Given the description of an element on the screen output the (x, y) to click on. 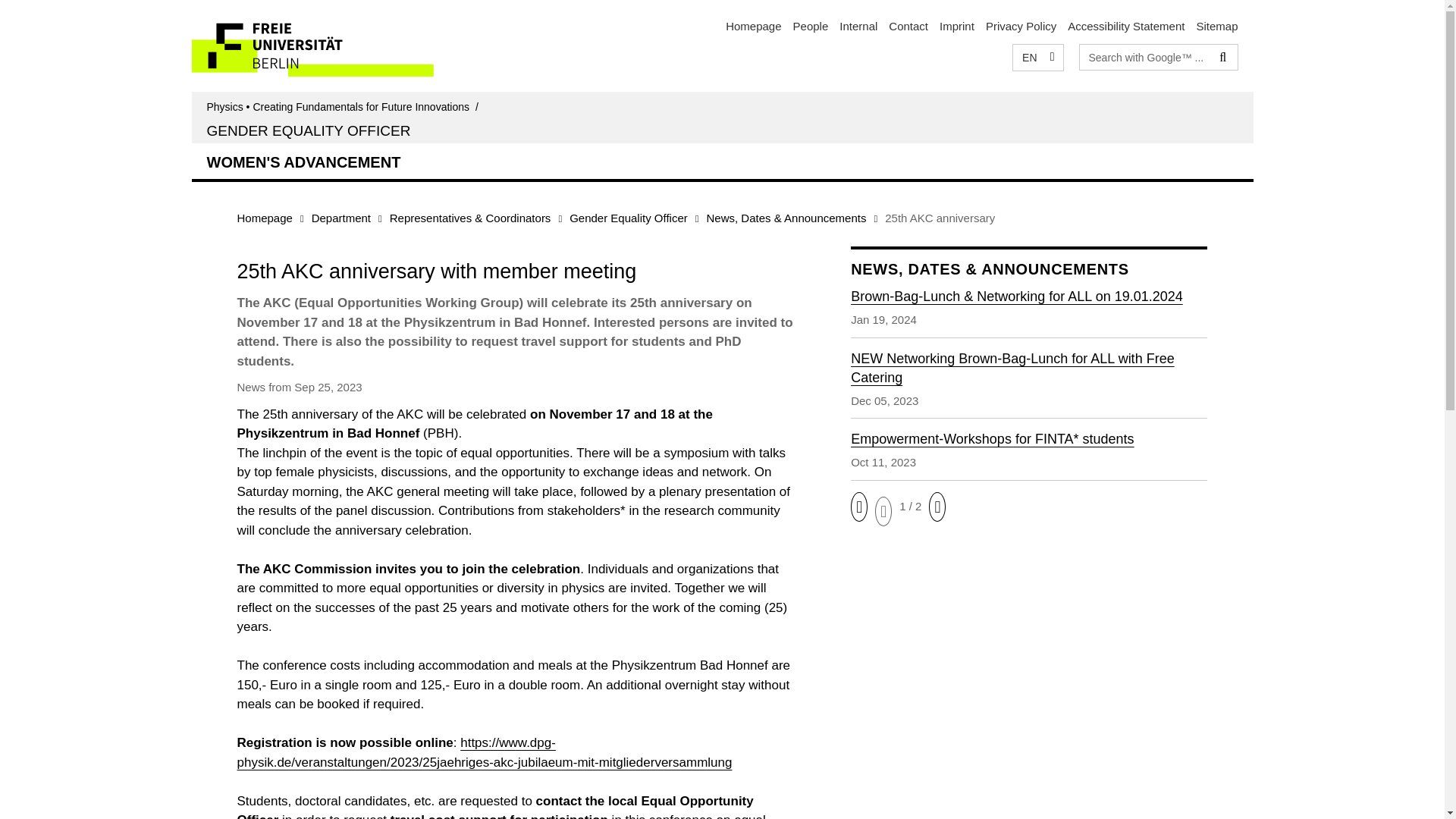
Contact (908, 25)
Homepage (263, 216)
Sitemap (1216, 25)
Department (341, 216)
To the Homepage of:  (344, 106)
Imprint (956, 25)
Accessibility Statement (1126, 25)
People (810, 25)
Please enter search term here (1144, 56)
